Given the description of an element on the screen output the (x, y) to click on. 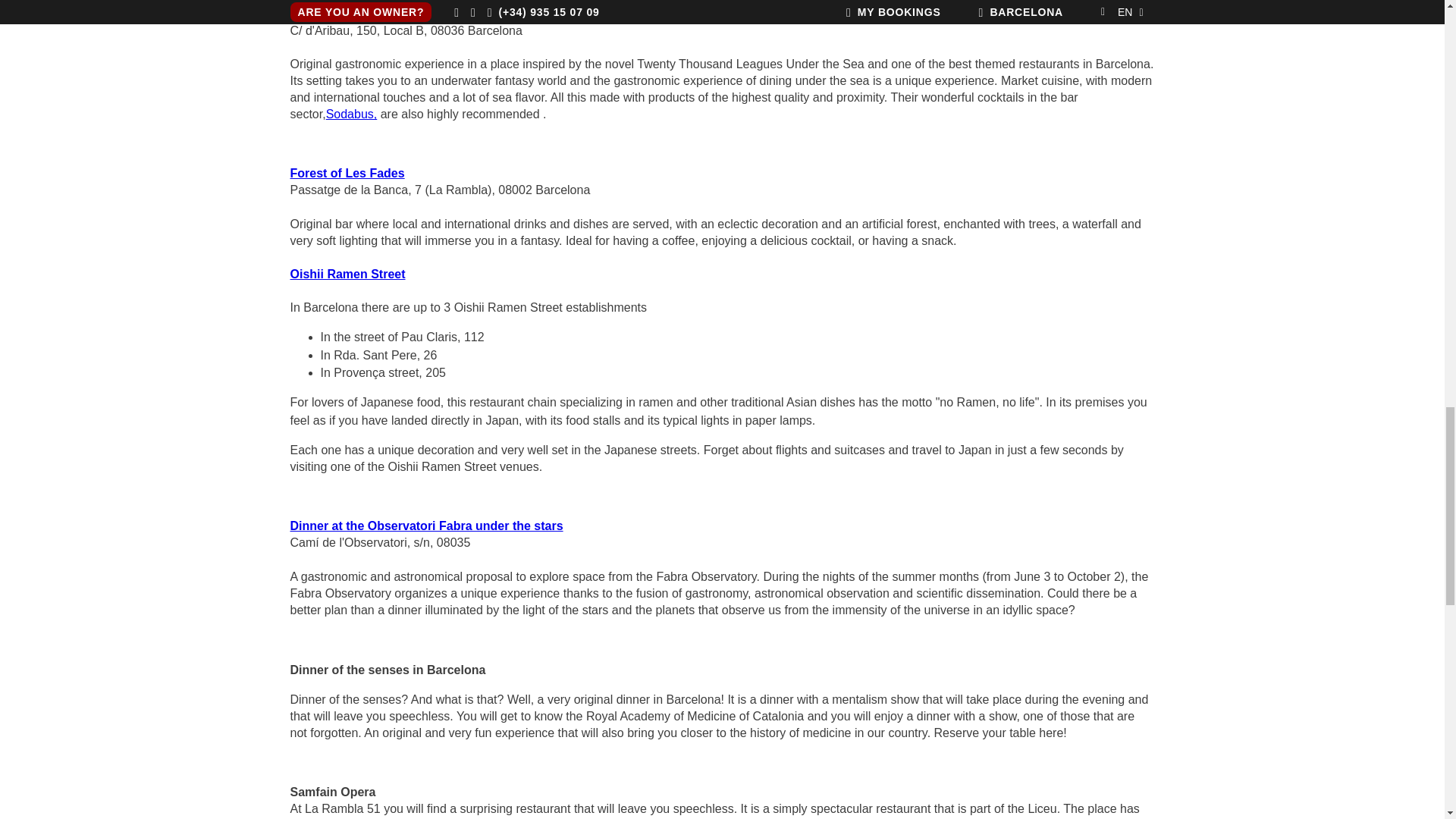
Oishii Ramen Street (346, 273)
Sodabus, (351, 113)
Forest of Les Fades (346, 173)
Verne (306, 13)
Dinner at the Observatori Fabra under the stars (425, 525)
